Given the description of an element on the screen output the (x, y) to click on. 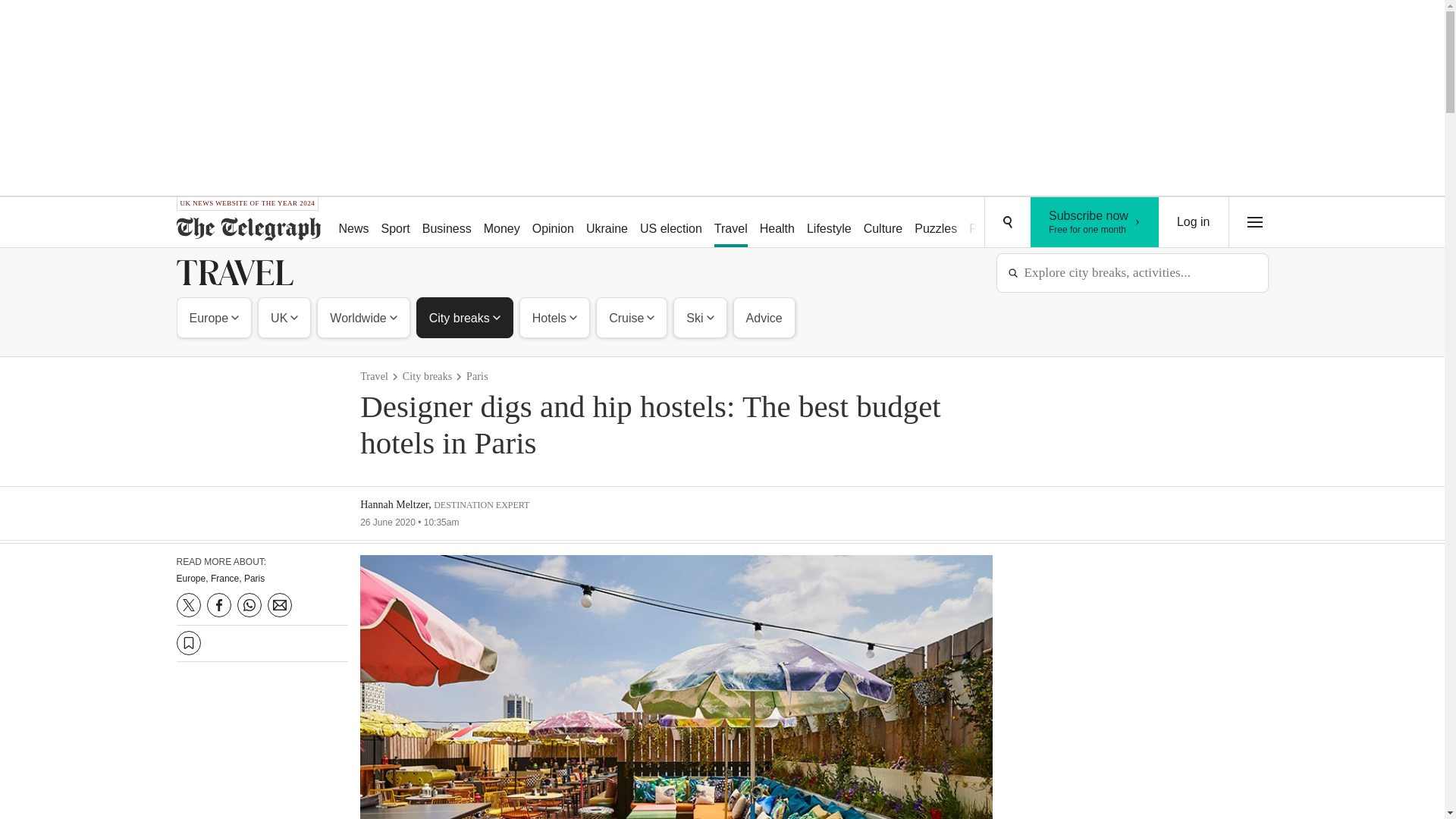
Puzzles (935, 223)
Lifestyle (828, 223)
Europe (214, 317)
Money (501, 223)
Log in (1193, 222)
Ukraine (606, 223)
Culture (882, 223)
Podcasts (993, 223)
Worldwide (363, 317)
US election (670, 223)
